Given the description of an element on the screen output the (x, y) to click on. 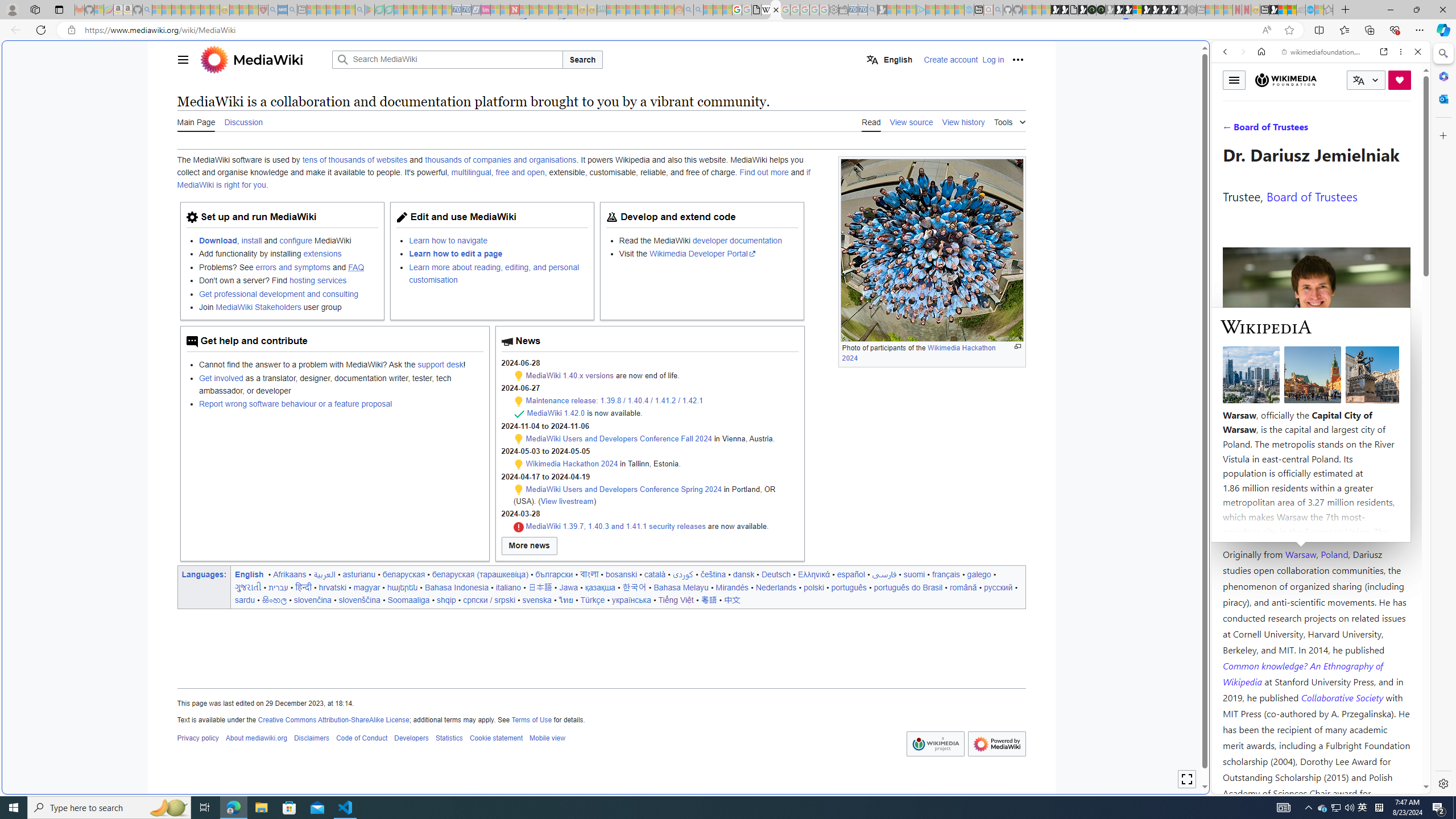
Wikimedia Developer Portal (702, 253)
bosanski (621, 574)
Statistics (449, 738)
English (248, 574)
Personal tools (1017, 59)
Learn how to navigate (498, 239)
Learn how to edit a page (455, 253)
